Given the description of an element on the screen output the (x, y) to click on. 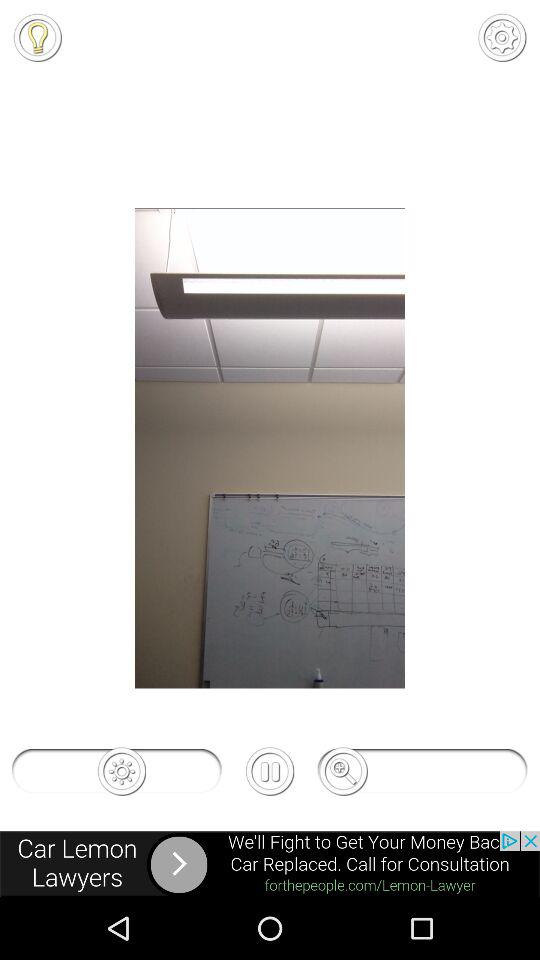
flash (37, 37)
